Given the description of an element on the screen output the (x, y) to click on. 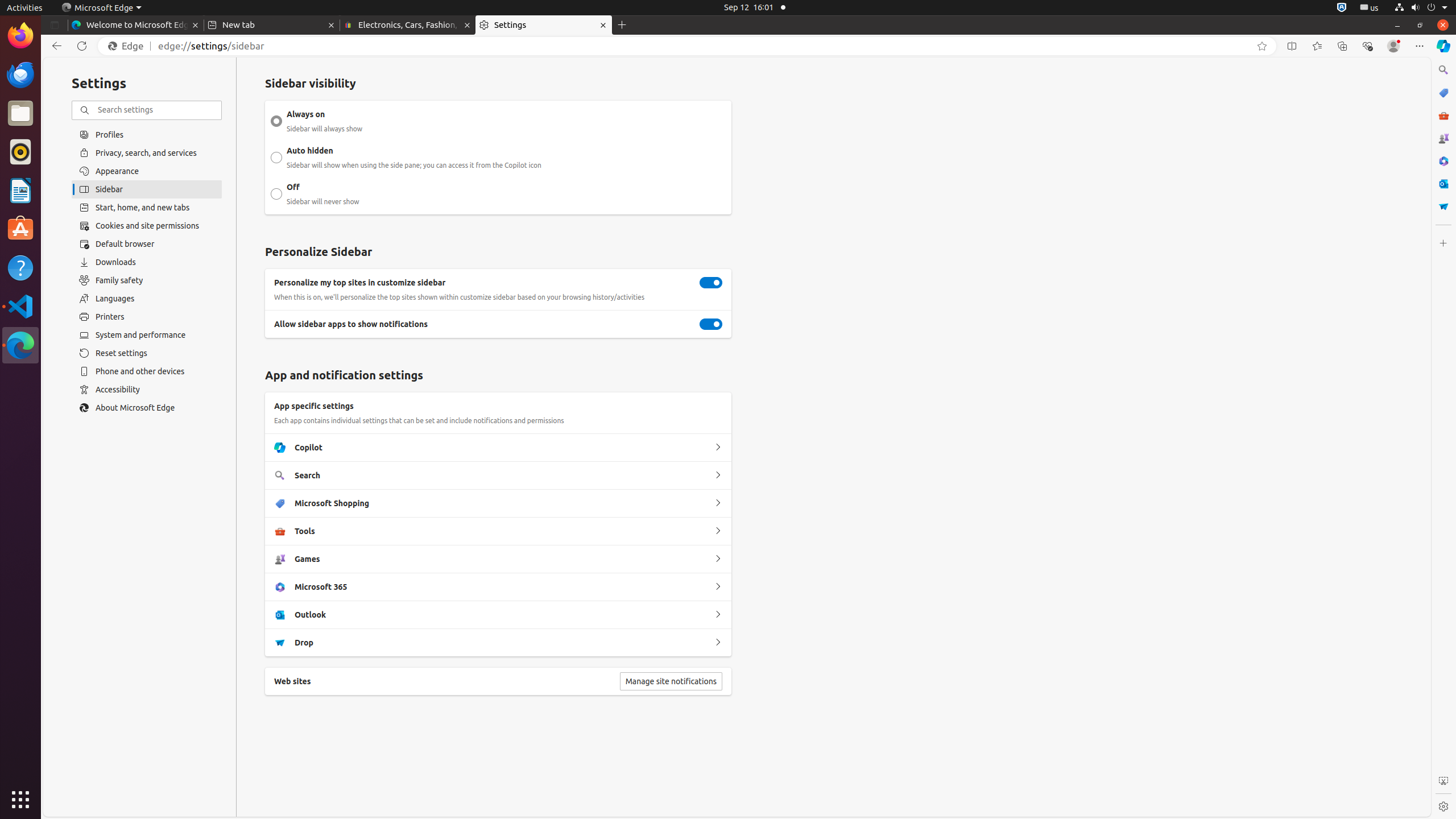
Collections Element type: push-button (1341, 45)
Visual Studio Code Element type: push-button (20, 306)
Start, home, and new tabs Element type: tree-item (146, 207)
Screenshot Element type: push-button (1443, 780)
Help Element type: push-button (20, 267)
